Given the description of an element on the screen output the (x, y) to click on. 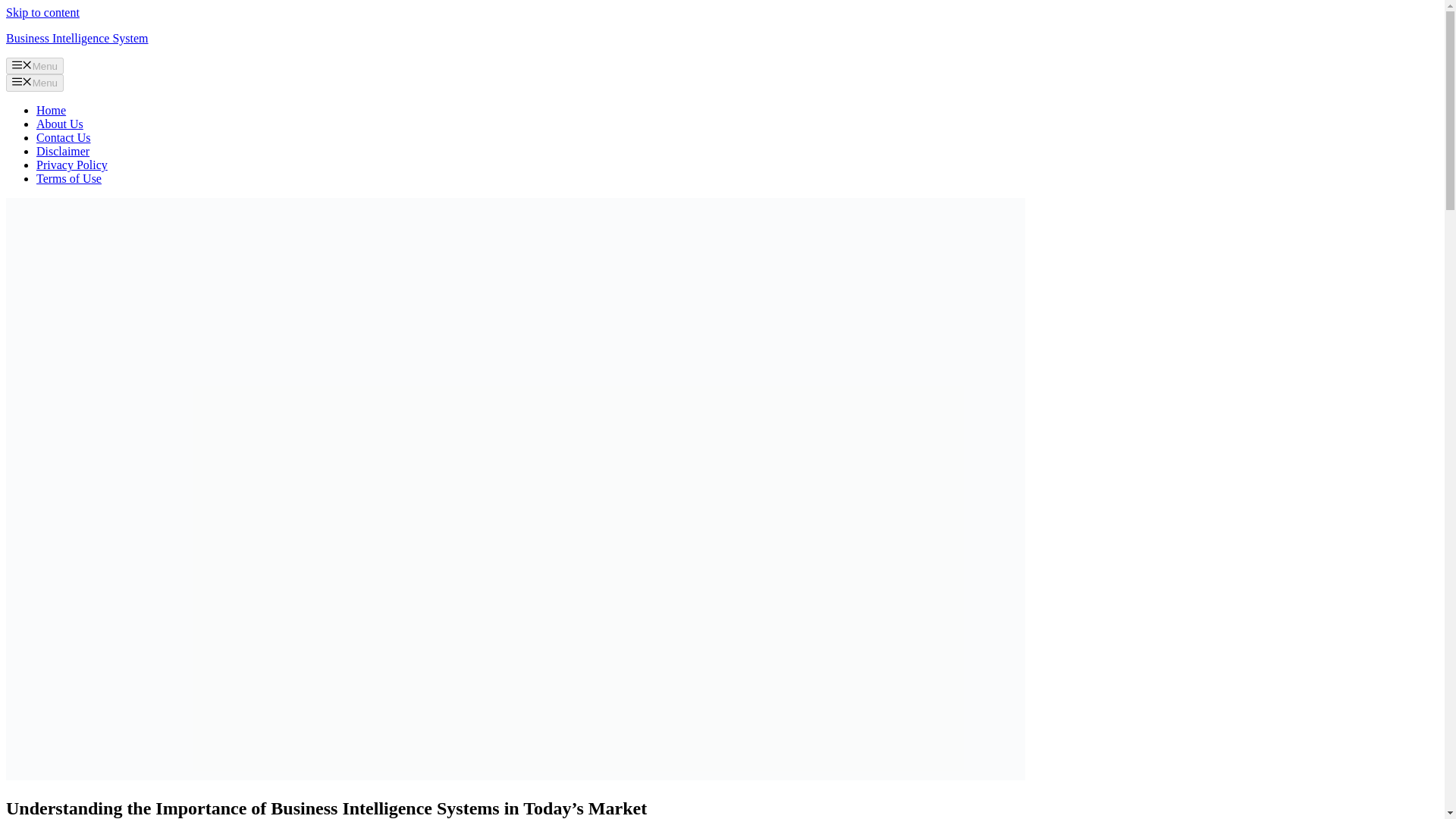
Contact Us (63, 137)
About Us (59, 123)
Terms of Use (68, 178)
Menu (34, 65)
Home (50, 110)
Skip to content (42, 11)
Business Intelligence System (76, 38)
Menu (34, 82)
Disclaimer (62, 151)
Skip to content (42, 11)
